Given the description of an element on the screen output the (x, y) to click on. 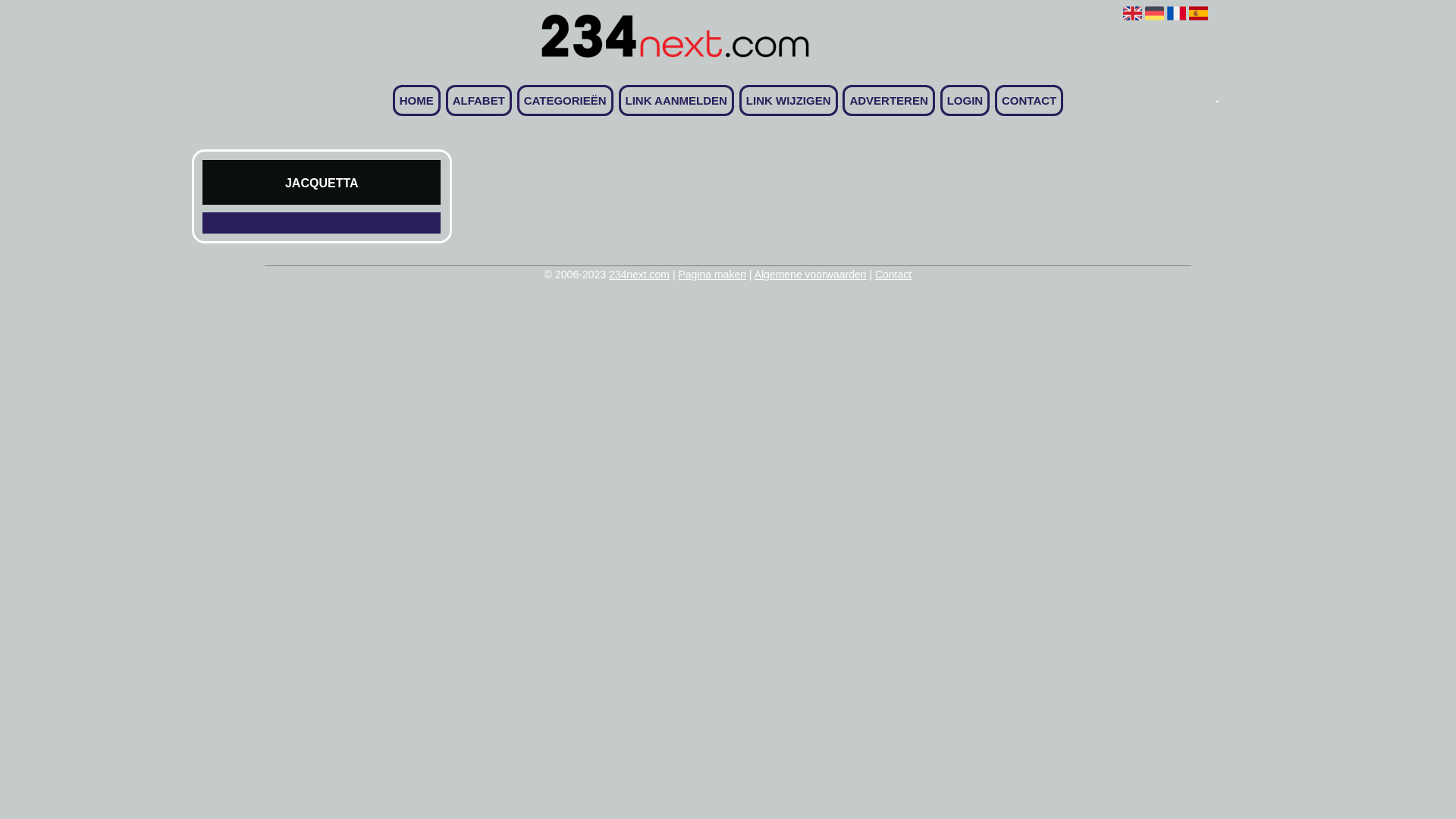
HOME Element type: text (416, 100)
LOGIN Element type: text (965, 100)
LINK WIJZIGEN Element type: text (788, 100)
ALFABET Element type: text (478, 100)
Pagina maken Element type: text (711, 274)
Contact Element type: text (893, 274)
ADVERTEREN Element type: text (888, 100)
CONTACT Element type: text (1028, 100)
234next.com Element type: text (638, 274)
LINK AANMELDEN Element type: text (676, 100)
Algemene voorwaarden Element type: text (810, 274)
